Given the description of an element on the screen output the (x, y) to click on. 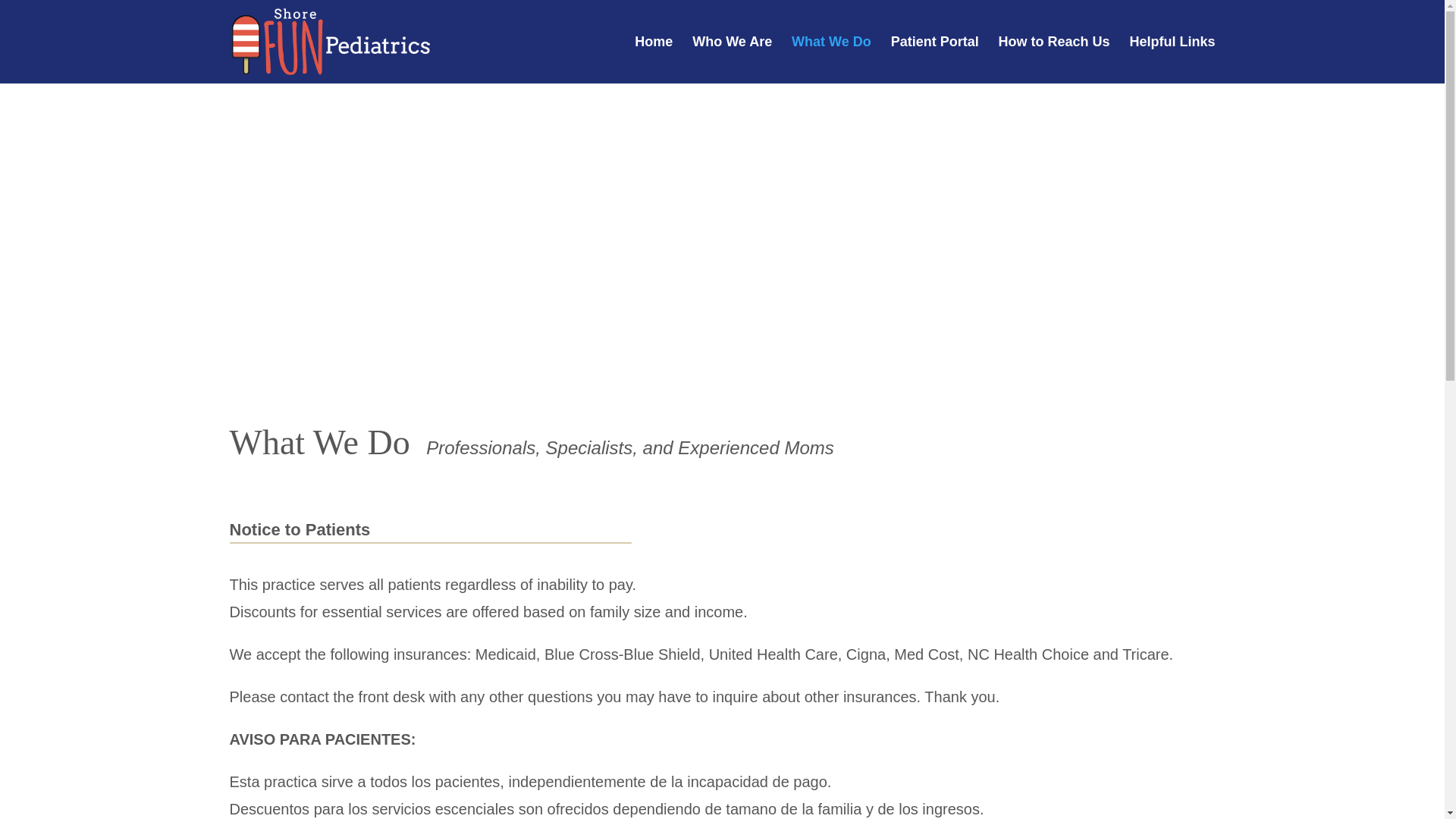
How to Reach Us (1053, 59)
Helpful Links (1171, 59)
Who We Are (732, 59)
What We Do (831, 59)
Patient Portal (934, 59)
